Given the description of an element on the screen output the (x, y) to click on. 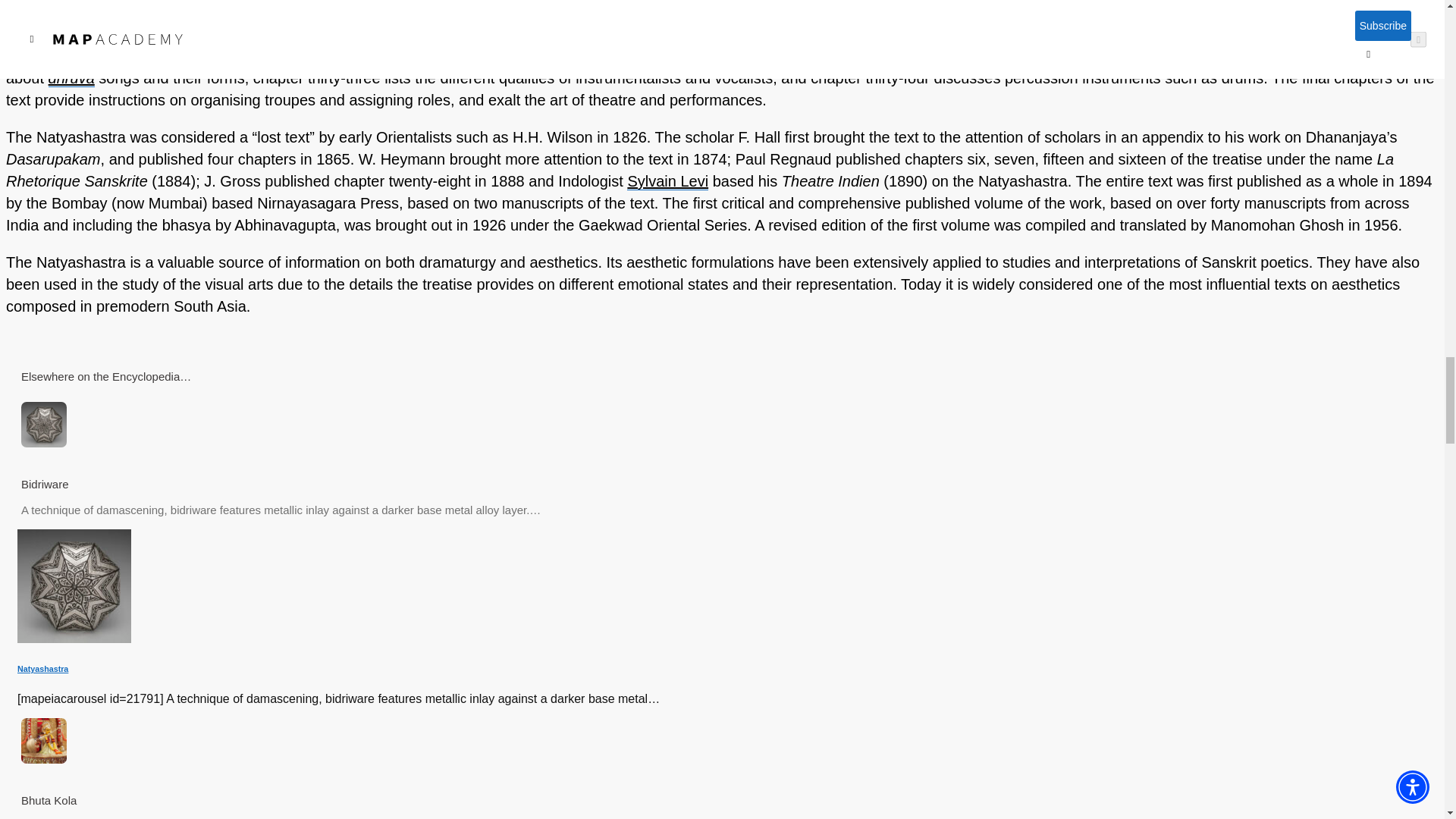
raga (840, 33)
